Given the description of an element on the screen output the (x, y) to click on. 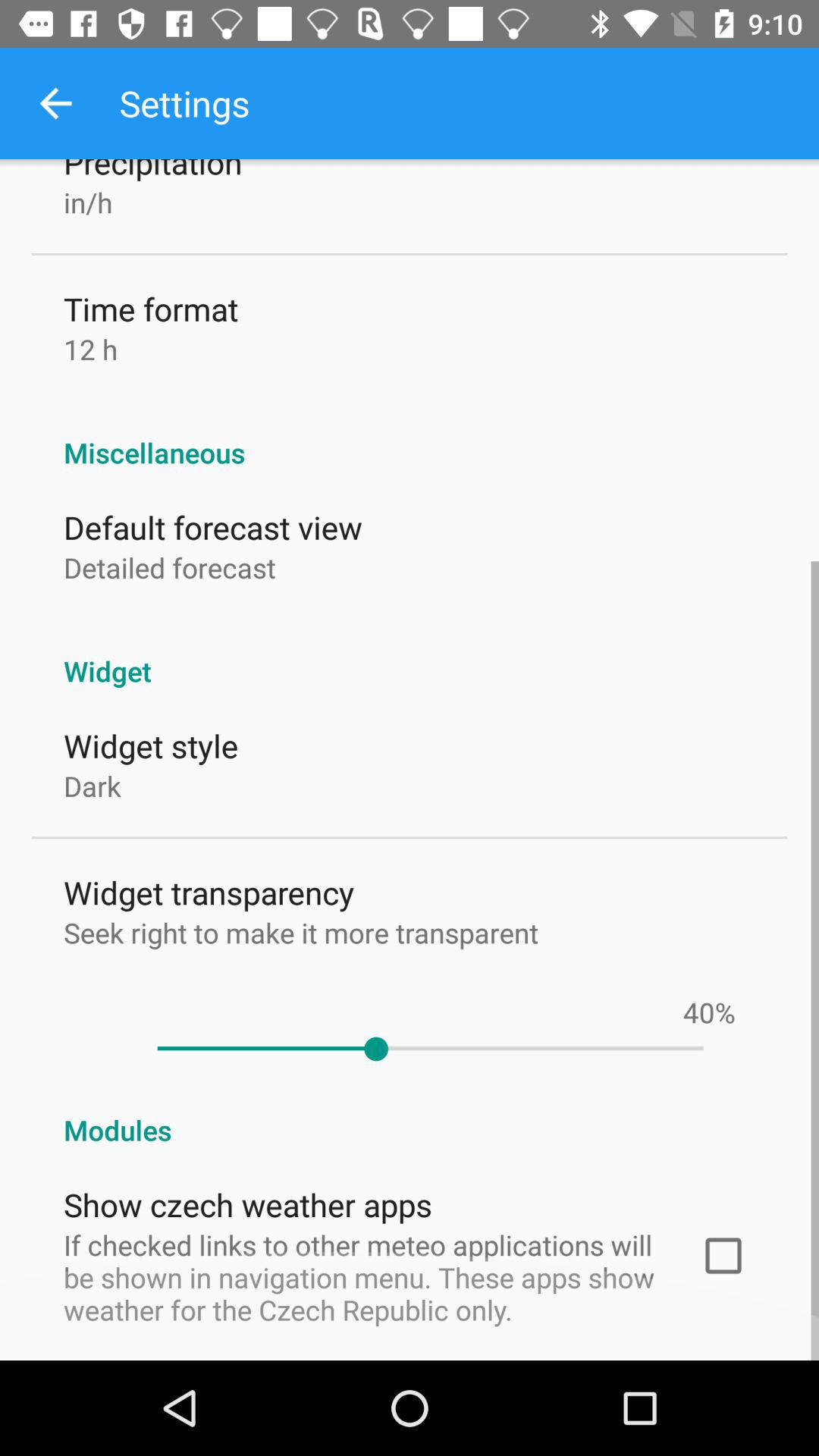
click item to the left of the % item (698, 1012)
